Given the description of an element on the screen output the (x, y) to click on. 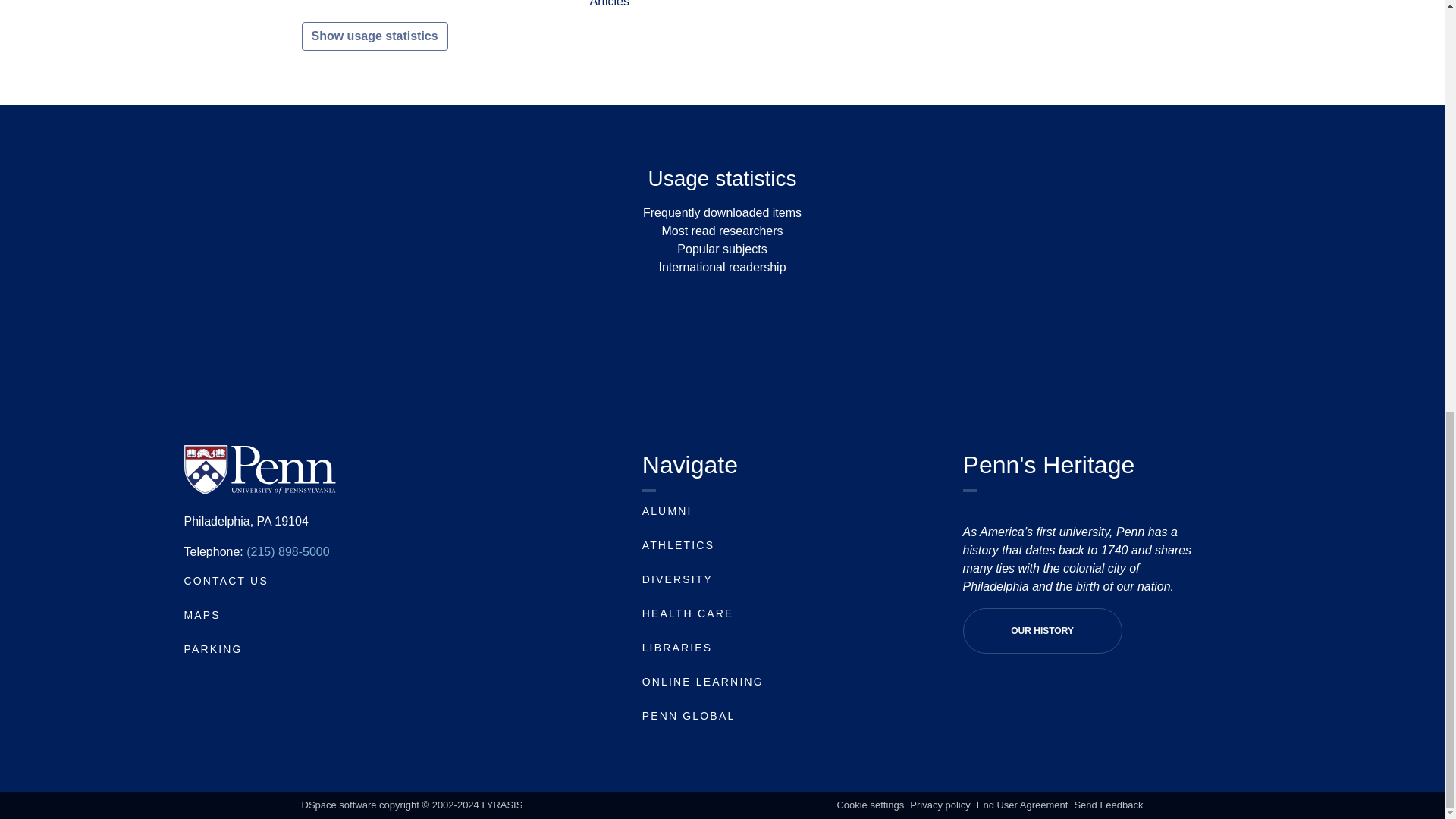
HEALTH CARE (687, 613)
CONTACT US (225, 580)
MAPS (201, 614)
LIBRARIES (677, 647)
Popular subjects (722, 248)
Most read researchers (722, 230)
Cookie settings (869, 804)
DSpace software (339, 804)
ALUMNI (667, 510)
Most read researchers (722, 230)
Frequently downloaded items (722, 212)
Show usage statistics (374, 36)
Send Feedback (1108, 804)
PENN GLOBAL (688, 715)
PARKING (212, 648)
